Given the description of an element on the screen output the (x, y) to click on. 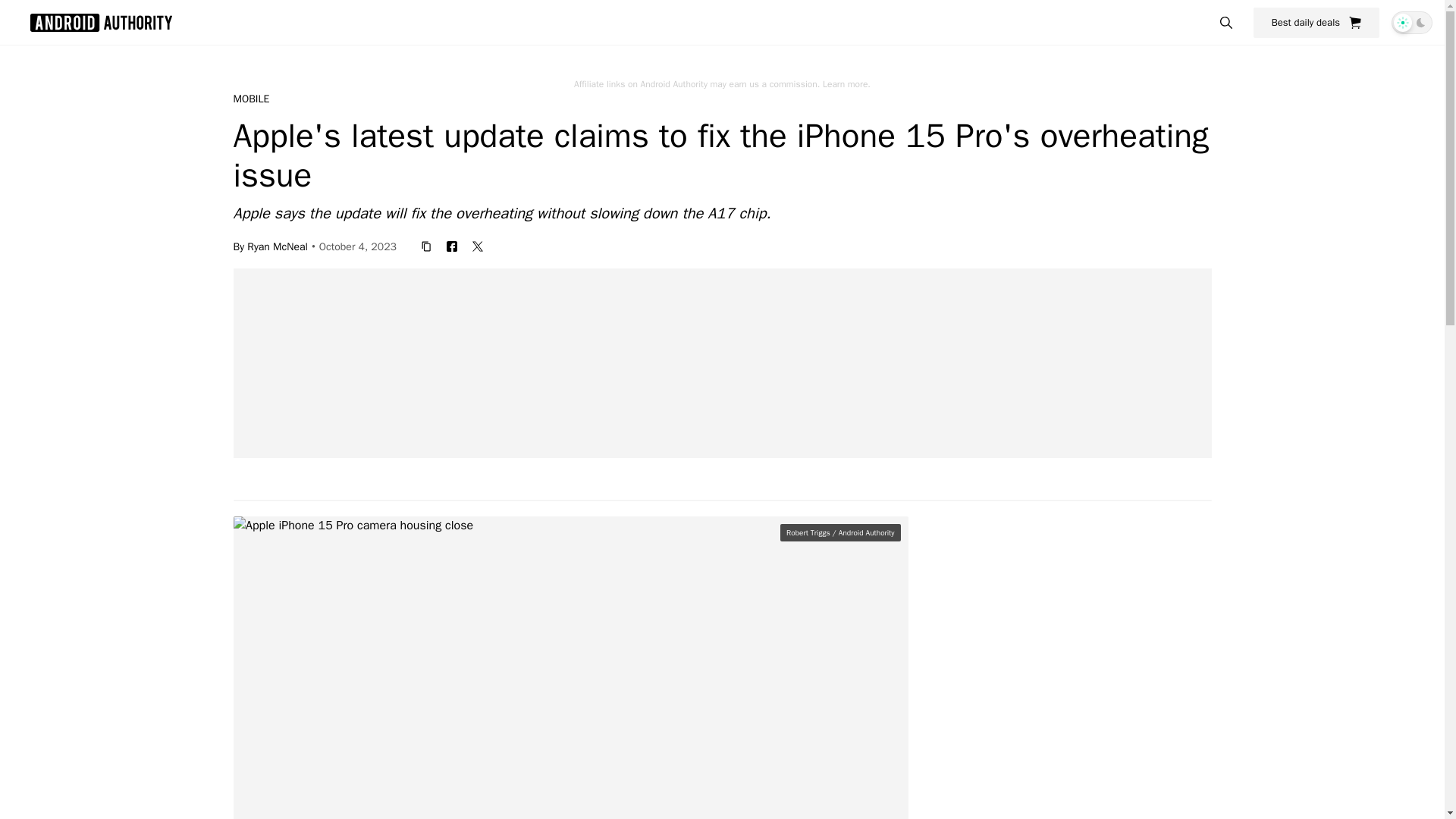
Learn more. (846, 83)
Ryan McNeal (277, 245)
MOBILE (250, 98)
facebook (451, 246)
twitter (477, 246)
Best daily deals (1315, 22)
